Given the description of an element on the screen output the (x, y) to click on. 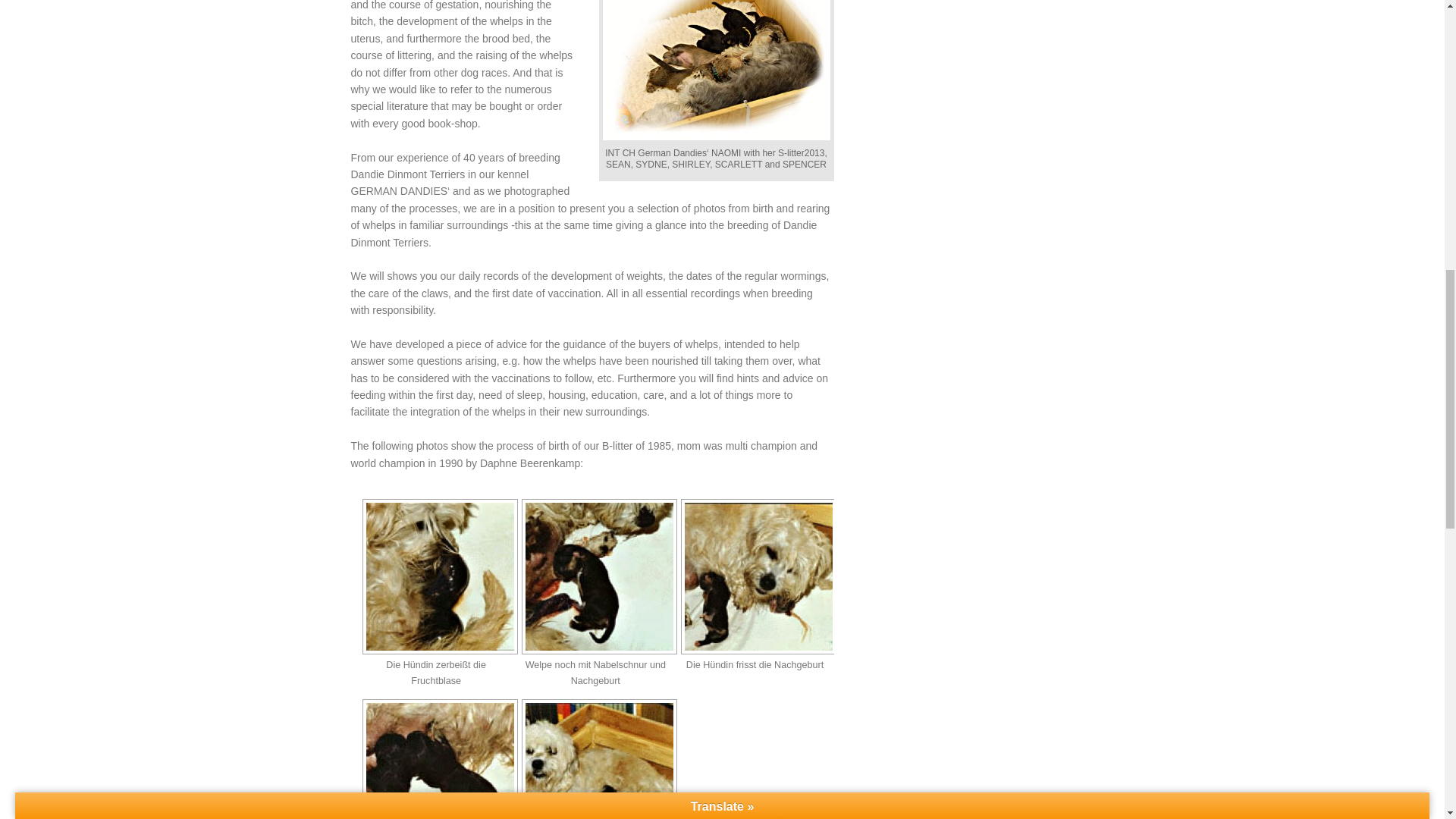
Welpe noch mit Nabelschnur und Nachgeburt (593, 576)
Bild 3 (758, 576)
Der Milchtritt, zur Steigerung der Milchproduktion (433, 759)
Bild 4 (440, 759)
Bild 1 (440, 576)
Bild 5 (599, 759)
Bild 2 (599, 576)
